Given the description of an element on the screen output the (x, y) to click on. 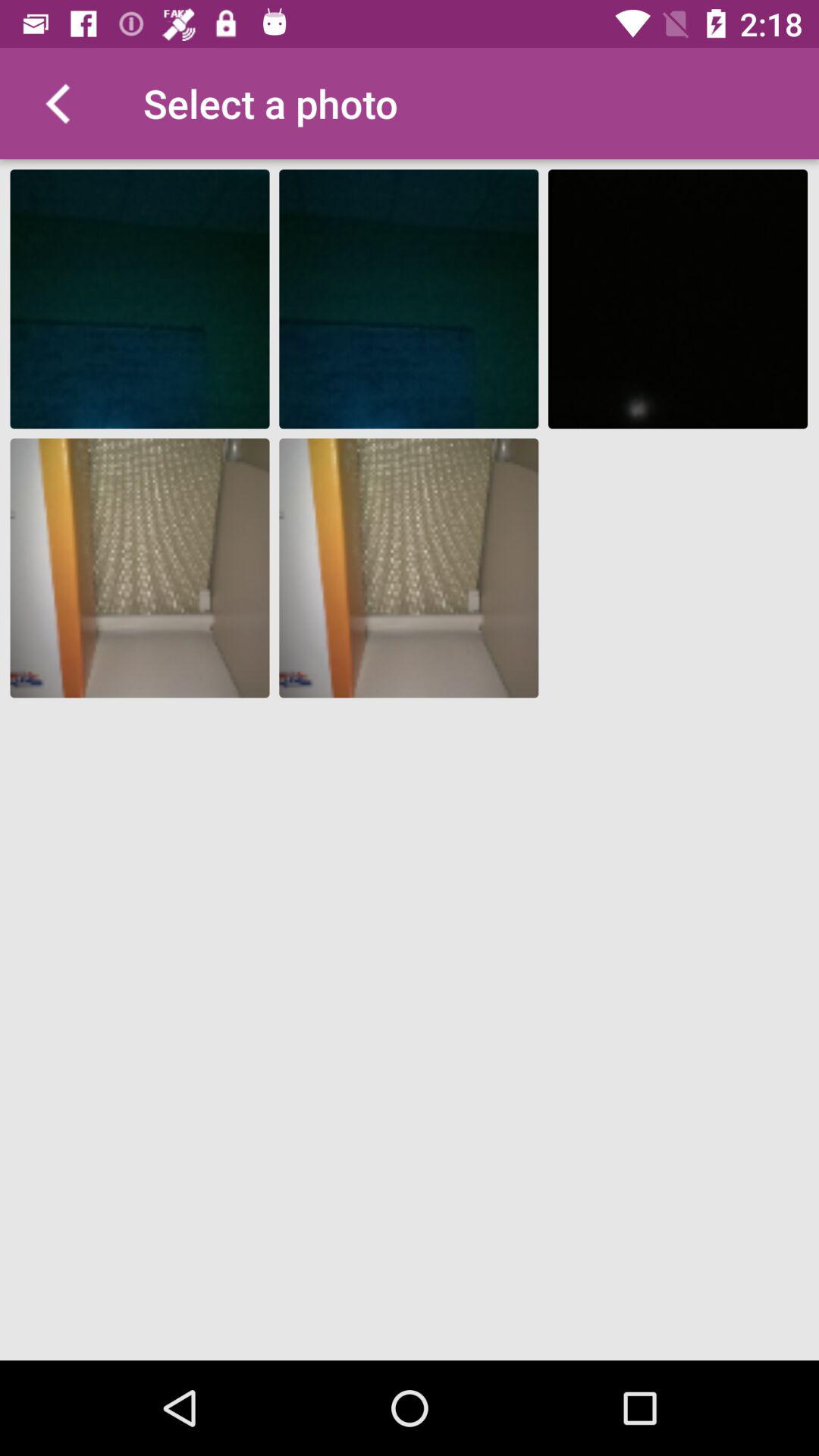
go back (55, 103)
